Given the description of an element on the screen output the (x, y) to click on. 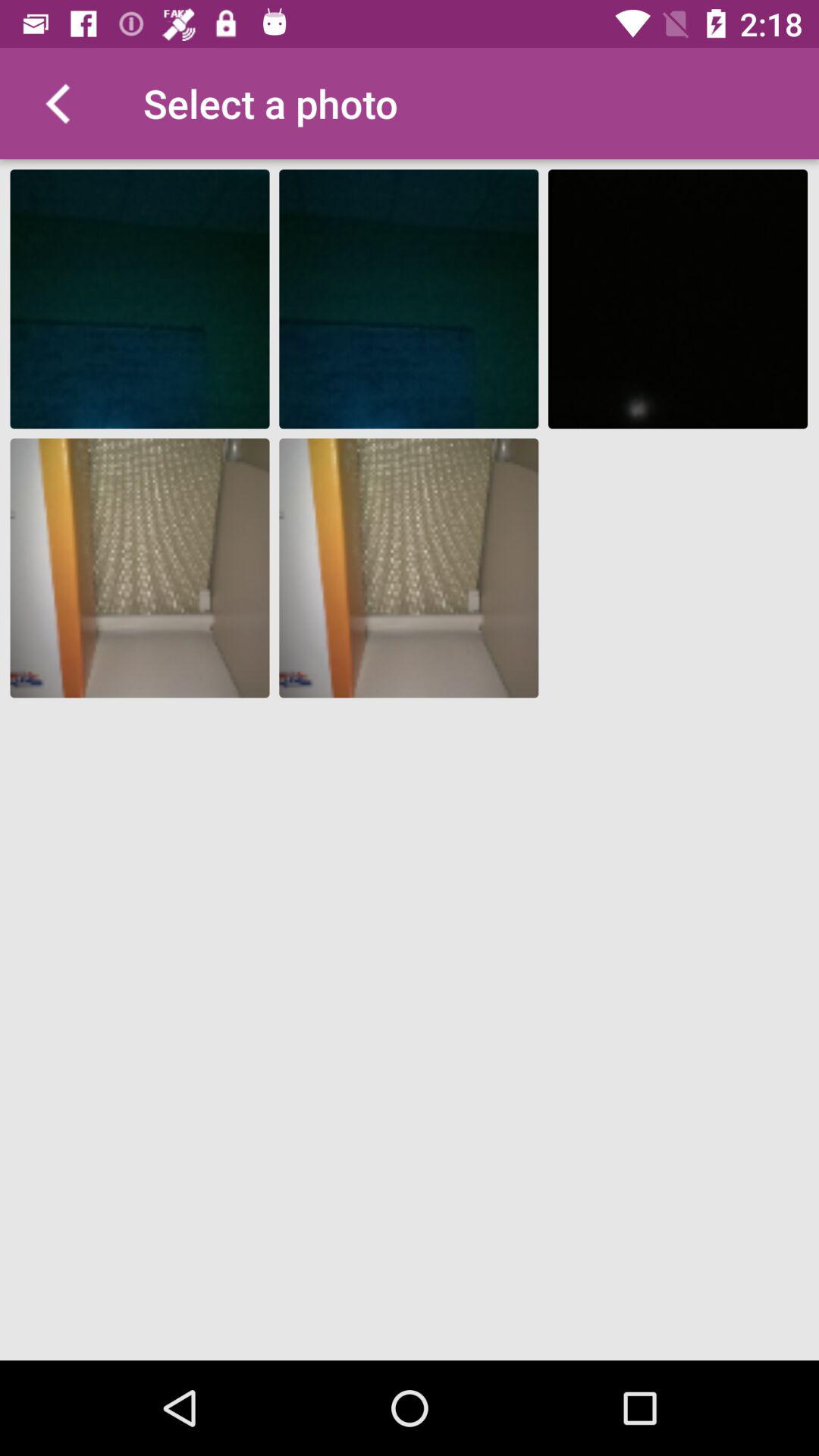
go back (55, 103)
